Given the description of an element on the screen output the (x, y) to click on. 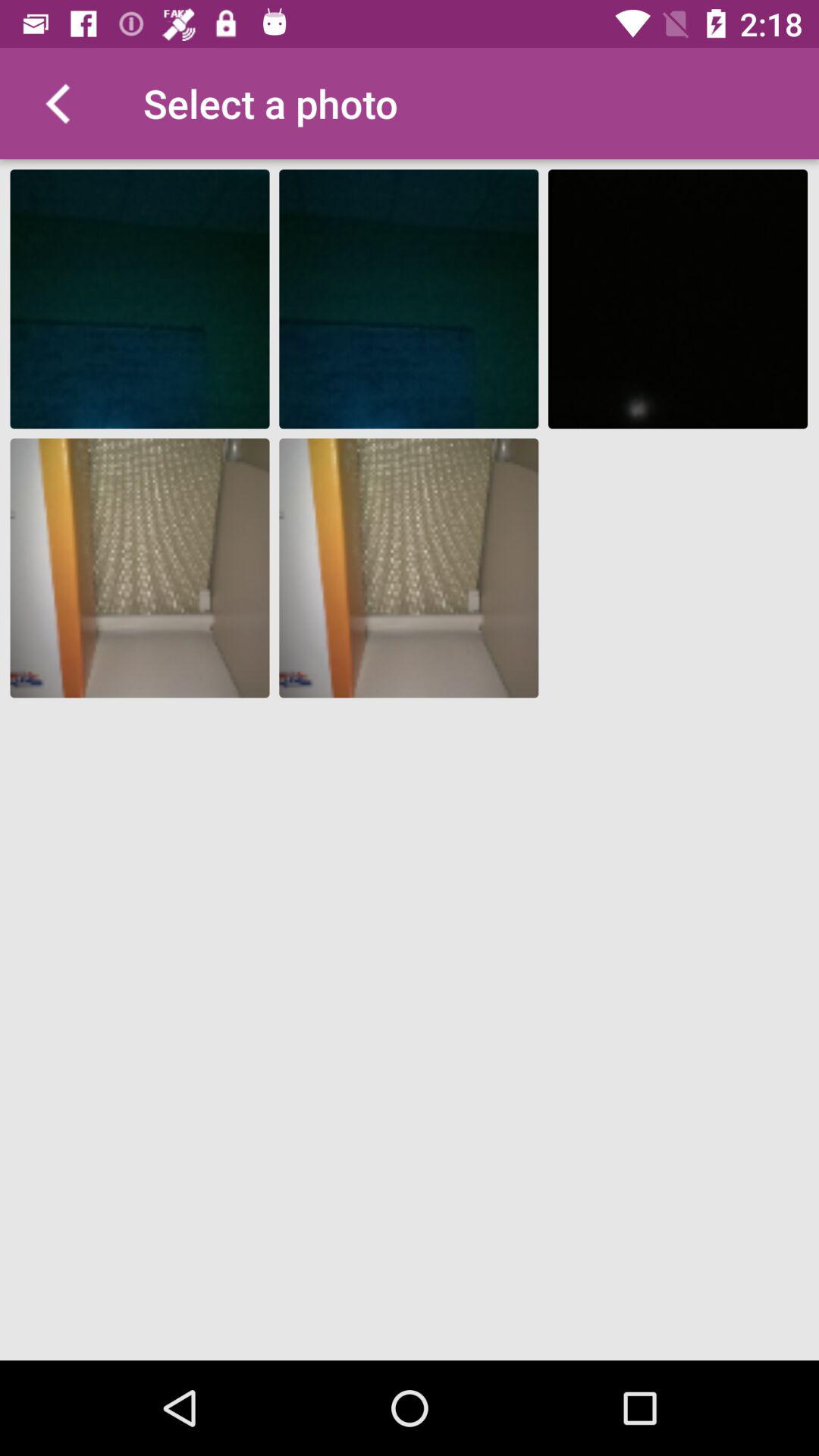
go back (55, 103)
